Given the description of an element on the screen output the (x, y) to click on. 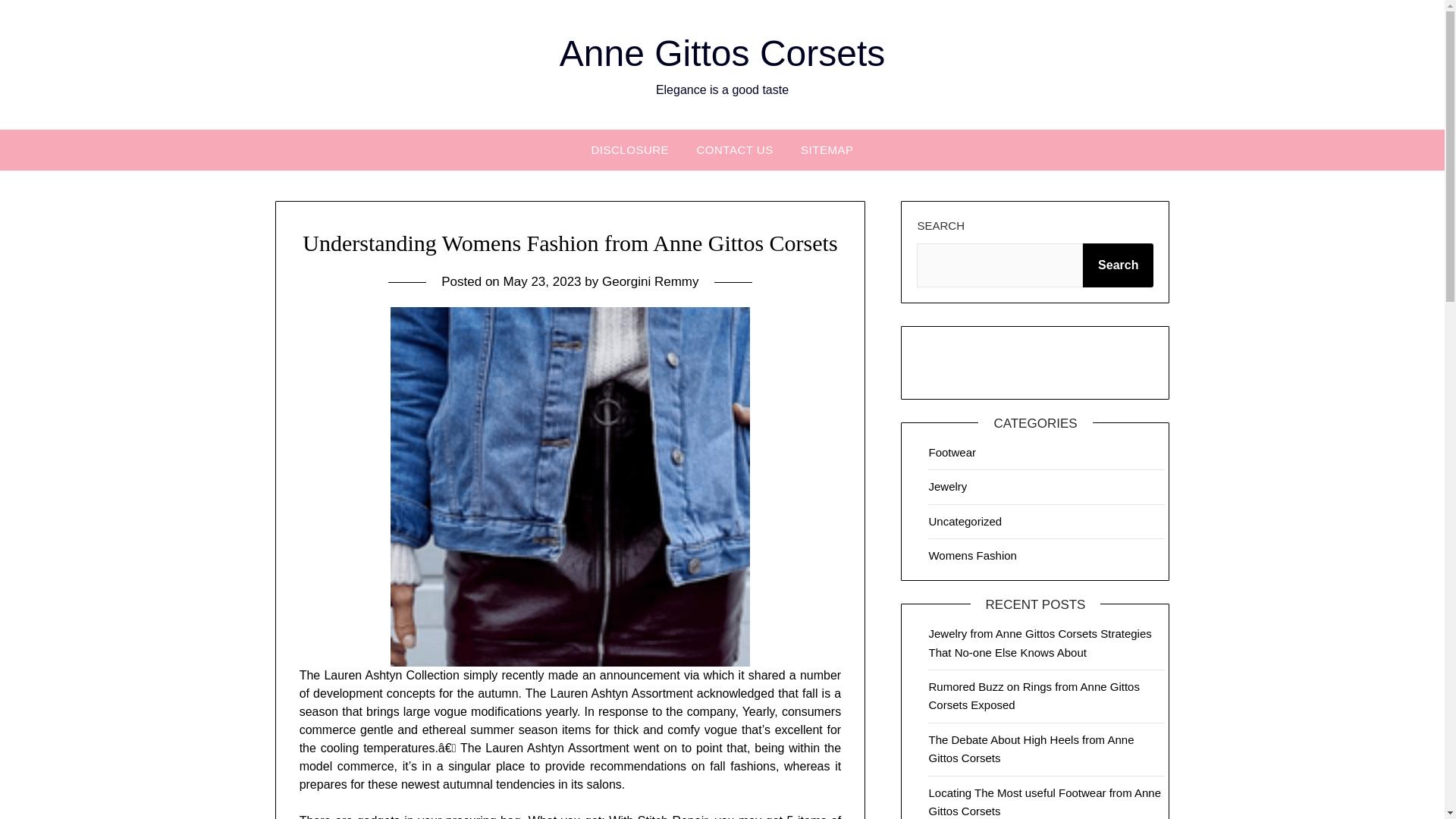
CONTACT US (735, 149)
Uncategorized (964, 520)
Georgini Remmy (650, 281)
Jewelry (947, 486)
Rumored Buzz on Rings from Anne Gittos Corsets Exposed (1033, 695)
DISCLOSURE (630, 149)
Footwear (951, 451)
Womens Fashion (972, 554)
Locating The Most useful Footwear from Anne Gittos Corsets (1044, 801)
Search (1118, 265)
May 23, 2023 (541, 281)
Anne Gittos Corsets (722, 53)
The Debate About High Heels from Anne Gittos Corsets (1031, 748)
SITEMAP (826, 149)
